Given the description of an element on the screen output the (x, y) to click on. 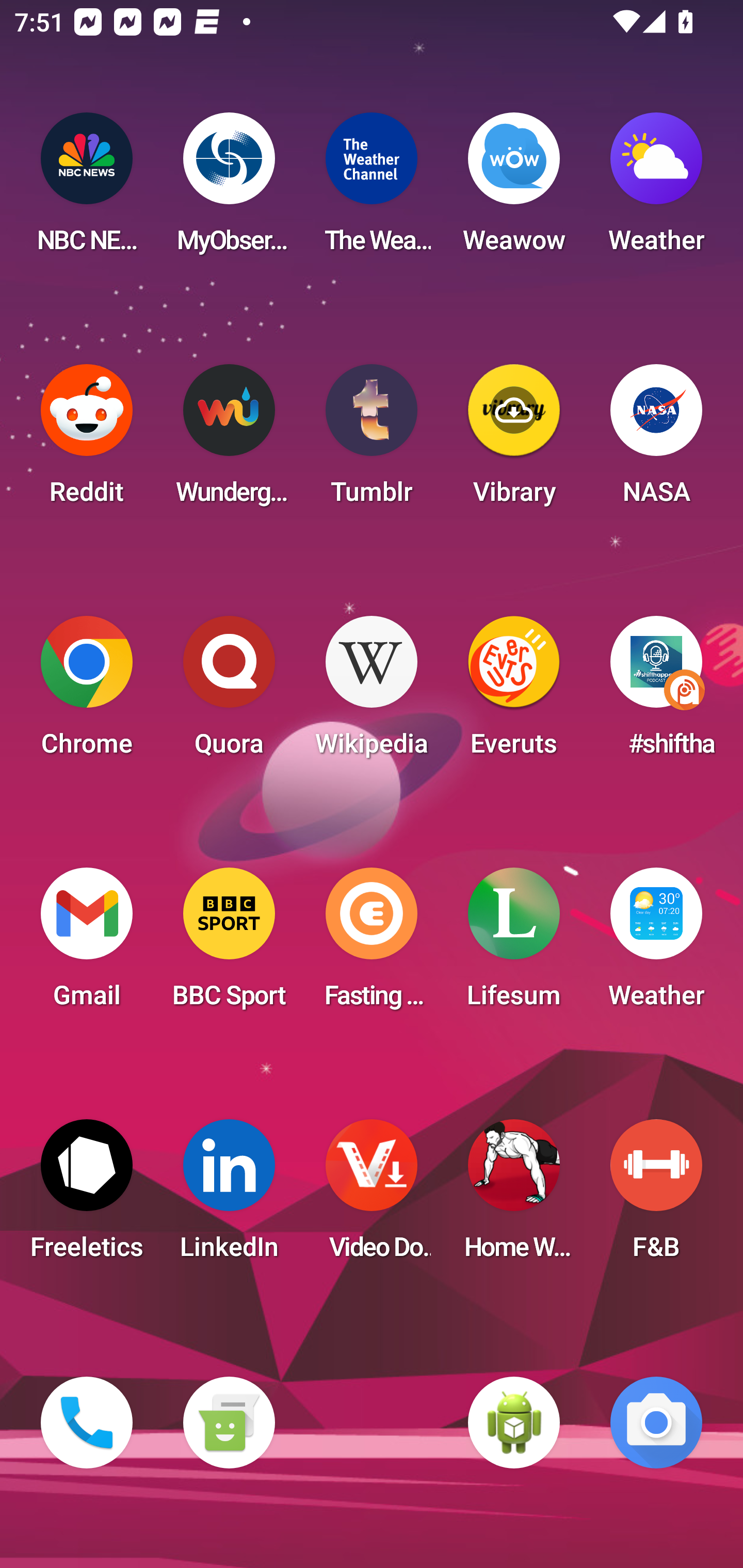
NBC NEWS (86, 188)
MyObservatory (228, 188)
The Weather Channel (371, 188)
Weawow (513, 188)
Weather (656, 188)
Reddit (86, 440)
Wunderground (228, 440)
Tumblr (371, 440)
Vibrary (513, 440)
NASA (656, 440)
Chrome (86, 692)
Quora (228, 692)
Wikipedia (371, 692)
Everuts (513, 692)
#shifthappens in the Digital Workplace Podcast (656, 692)
Gmail (86, 943)
BBC Sport (228, 943)
Fasting Coach (371, 943)
Lifesum (513, 943)
Weather (656, 943)
Freeletics (86, 1195)
LinkedIn (228, 1195)
Video Downloader & Ace Player (371, 1195)
Home Workout (513, 1195)
F&B (656, 1195)
Phone (86, 1422)
Messaging (228, 1422)
WebView Browser Tester (513, 1422)
Camera (656, 1422)
